Given the description of an element on the screen output the (x, y) to click on. 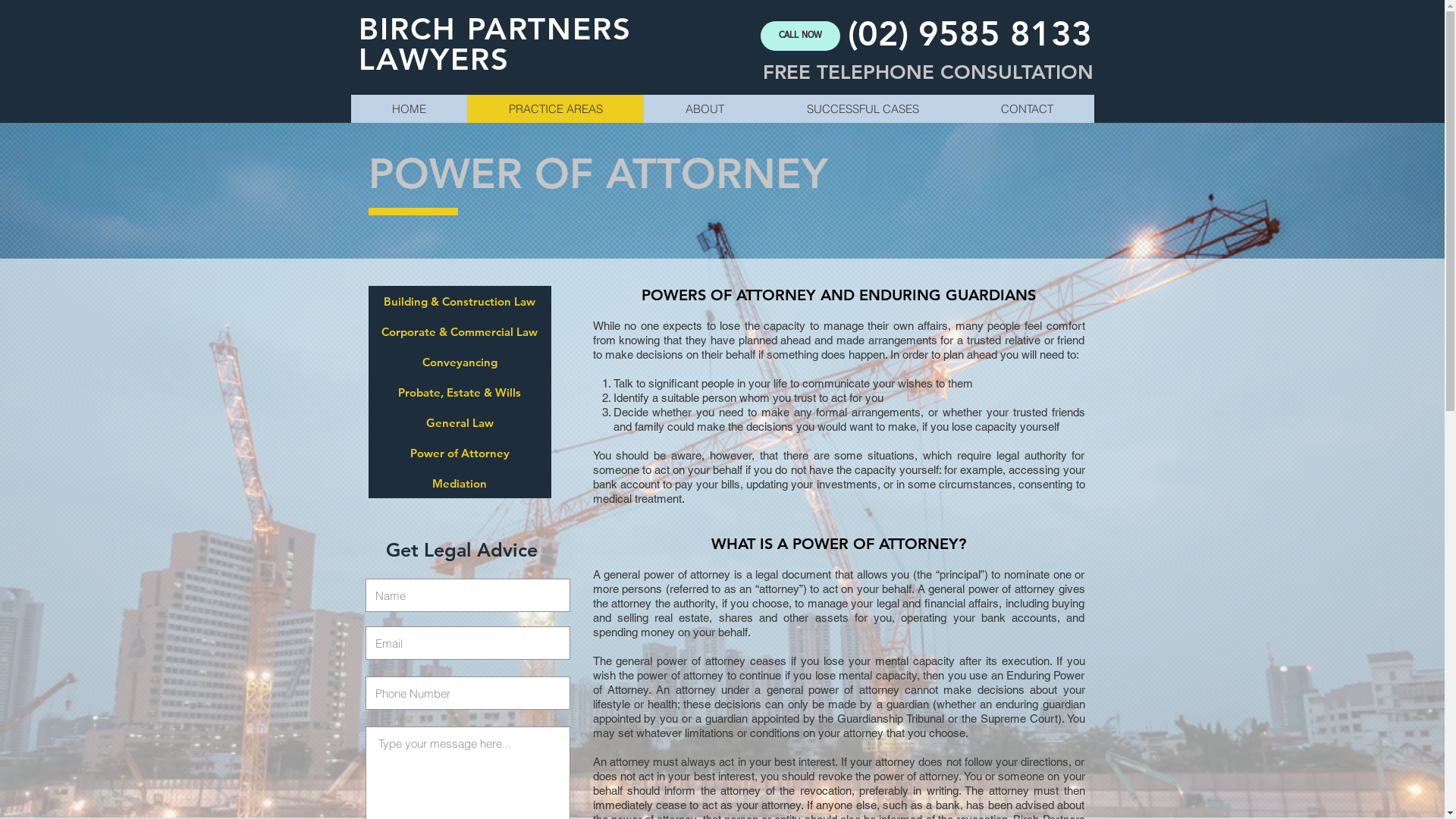
Building & Construction Law Element type: text (459, 300)
Corporate & Commercial Law Element type: text (459, 331)
BIRCH PARTNERS LAWYERS Element type: text (493, 43)
Power of Attorney Element type: text (459, 452)
Mediation Element type: text (459, 482)
General Law Element type: text (459, 422)
CALL NOW Element type: text (799, 35)
ABOUT Element type: text (703, 108)
CONTACT Element type: text (1027, 108)
Probate, Estate & Wills Element type: text (459, 391)
Conveyancing Element type: text (459, 361)
SUCCESSFUL CASES Element type: text (861, 108)
HOME Element type: text (408, 108)
PRACTICE AREAS Element type: text (555, 108)
